Given the description of an element on the screen output the (x, y) to click on. 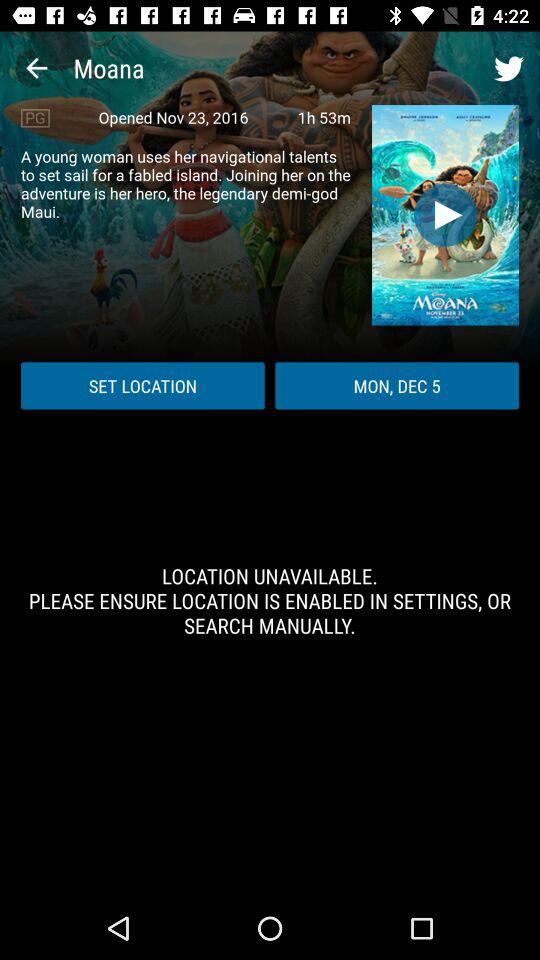
press mon, dec 5 (397, 385)
